Given the description of an element on the screen output the (x, y) to click on. 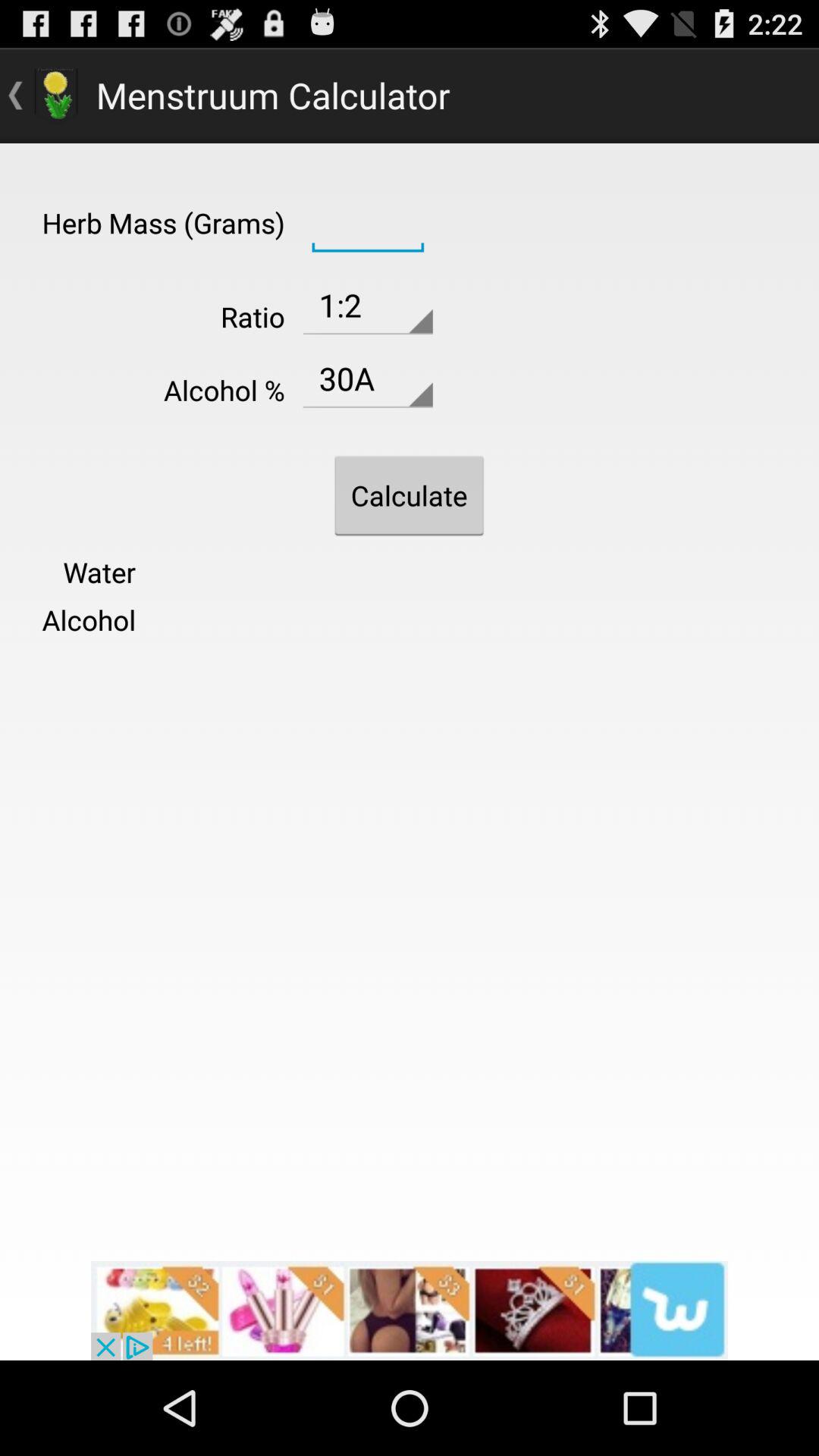
insert number of grams (367, 221)
